Given the description of an element on the screen output the (x, y) to click on. 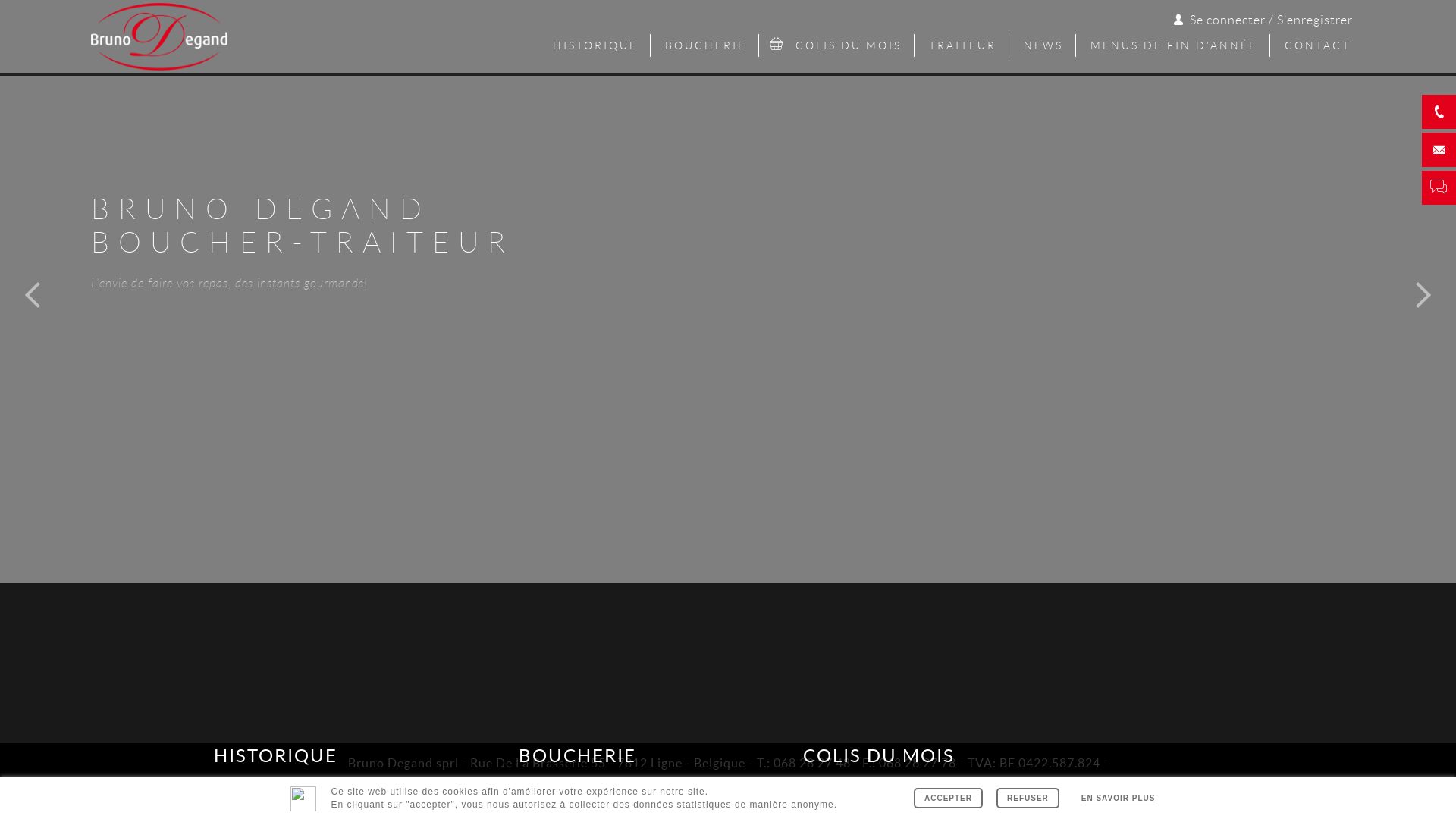
BOUCHERIE Element type: text (577, 698)
info@brunodegand.be Element type: text (574, 783)
COLIS DU MOIS Element type: text (878, 698)
TRAITEUR Element type: text (962, 45)
Se connecter / S'enregistrer Element type: text (1261, 18)
NEWS Element type: text (1043, 45)
BOUCHERIE Element type: text (705, 45)
COLIS DU MOIS Element type: text (837, 45)
ACCEPTER Element type: text (947, 797)
HISTORIQUE Element type: text (275, 698)
Cookie Policy Element type: text (922, 783)
HISTORIQUE Element type: text (595, 45)
Refuser Element type: text (1027, 797)
CONTACT Element type: text (1317, 45)
EN SAVOIR PLUS Element type: text (1118, 797)
